Given the description of an element on the screen output the (x, y) to click on. 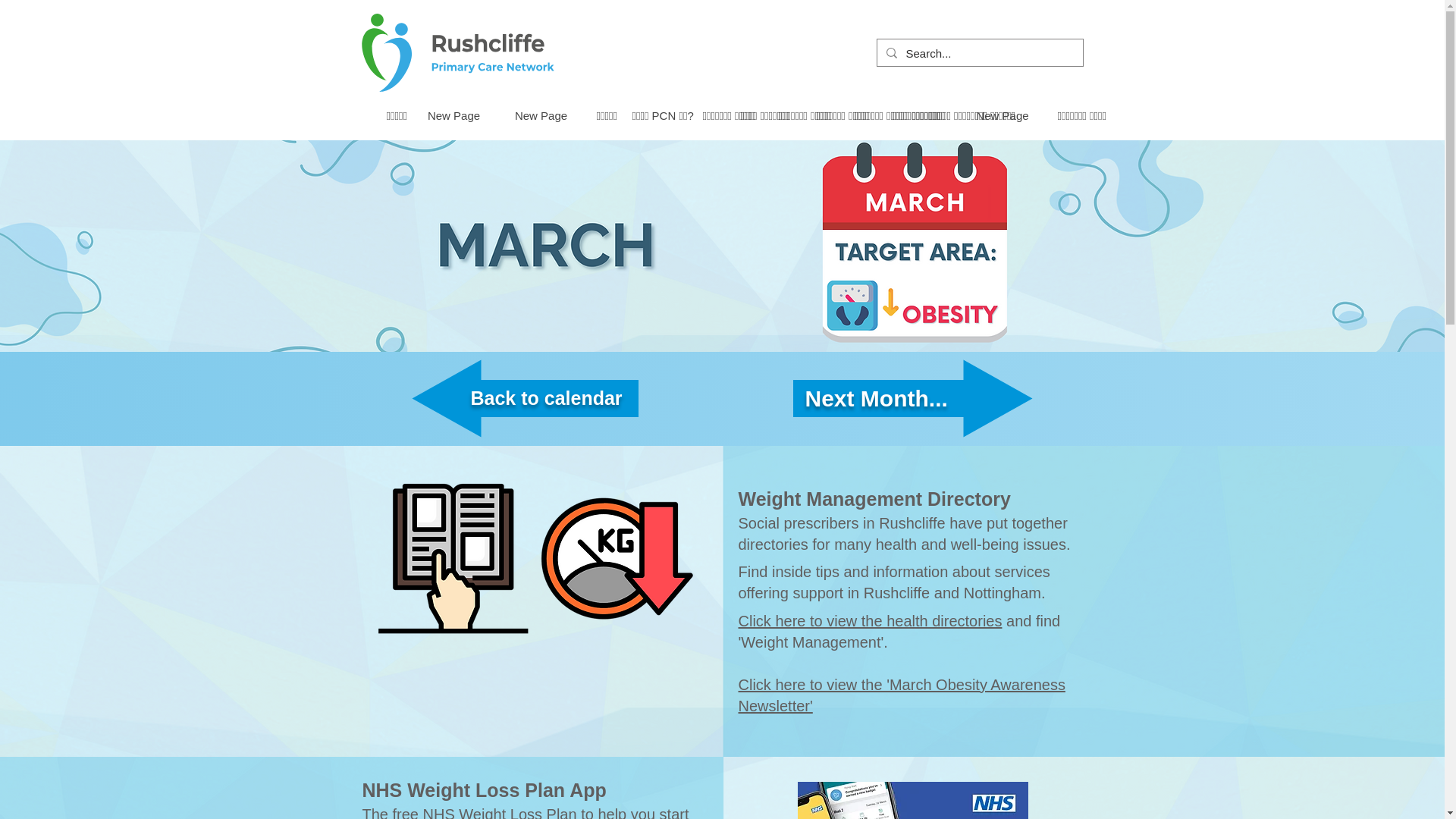
New Page (1001, 115)
New Page (452, 115)
New Page (541, 115)
